Given the description of an element on the screen output the (x, y) to click on. 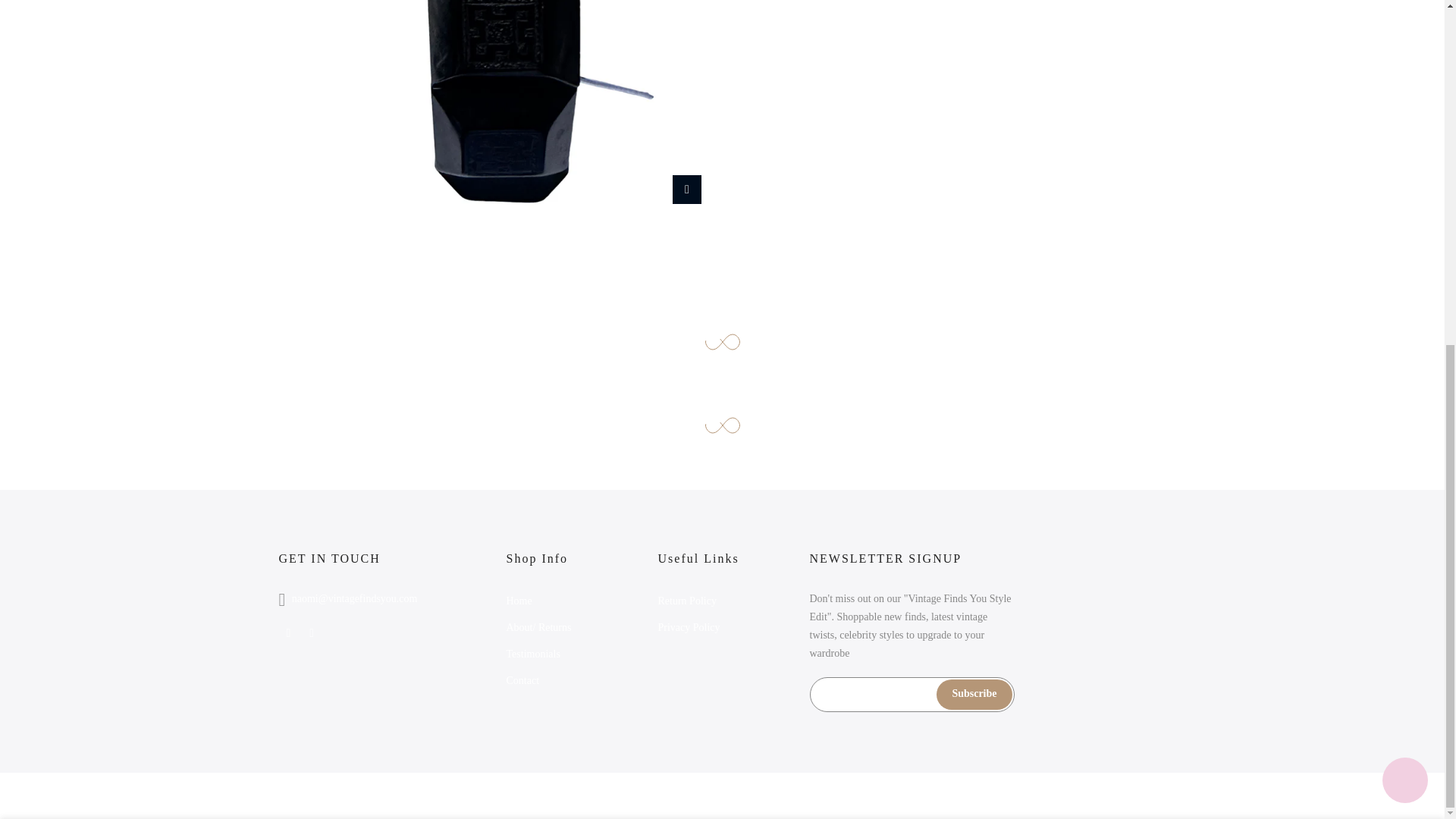
Return Policy (687, 600)
Testimonials (533, 654)
Shopify online store chat (1404, 191)
Home (519, 600)
Privacy Policy (689, 627)
1 (1001, 263)
Contact (523, 680)
